Given the description of an element on the screen output the (x, y) to click on. 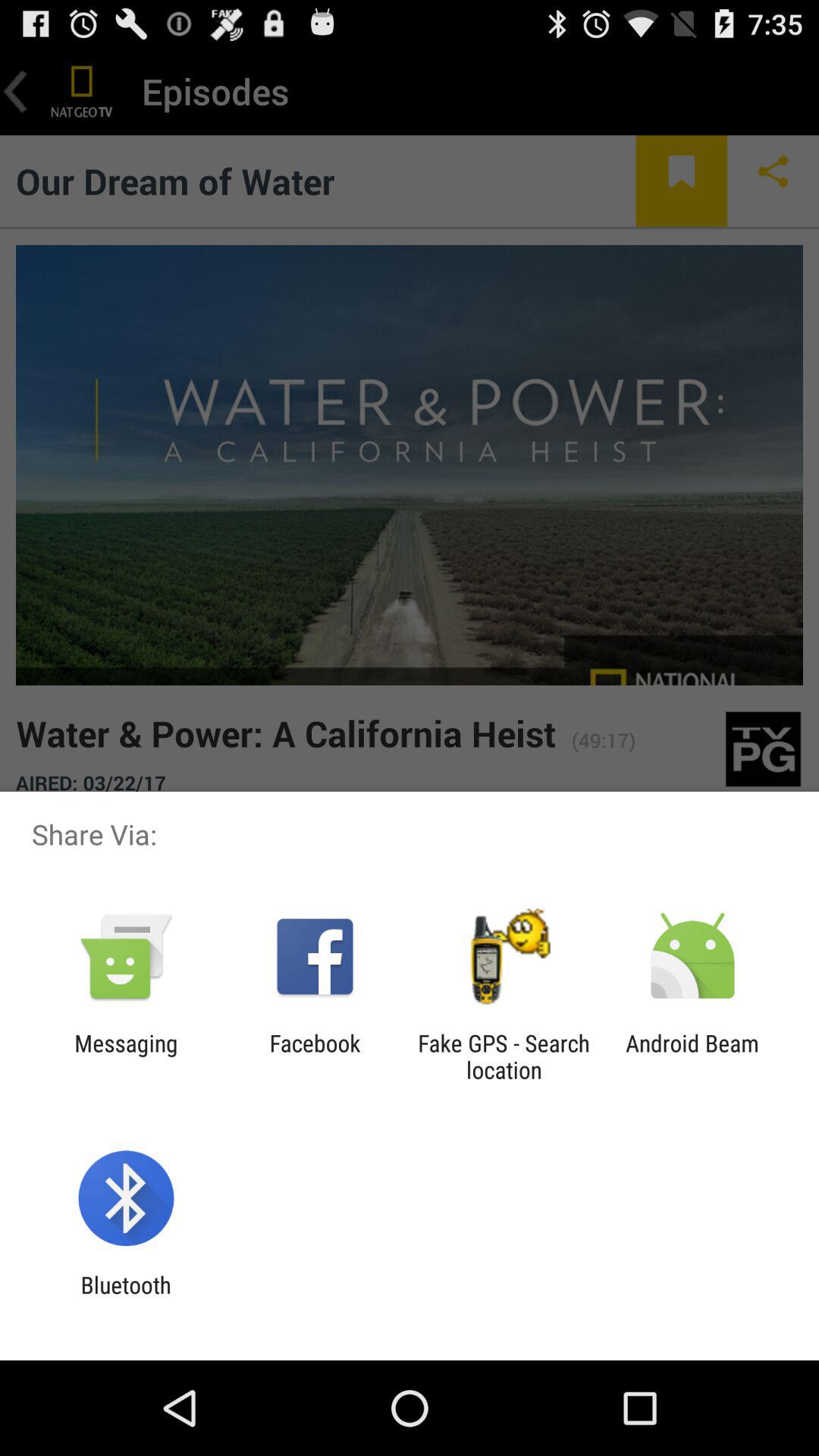
click the item to the right of the messaging item (314, 1056)
